Given the description of an element on the screen output the (x, y) to click on. 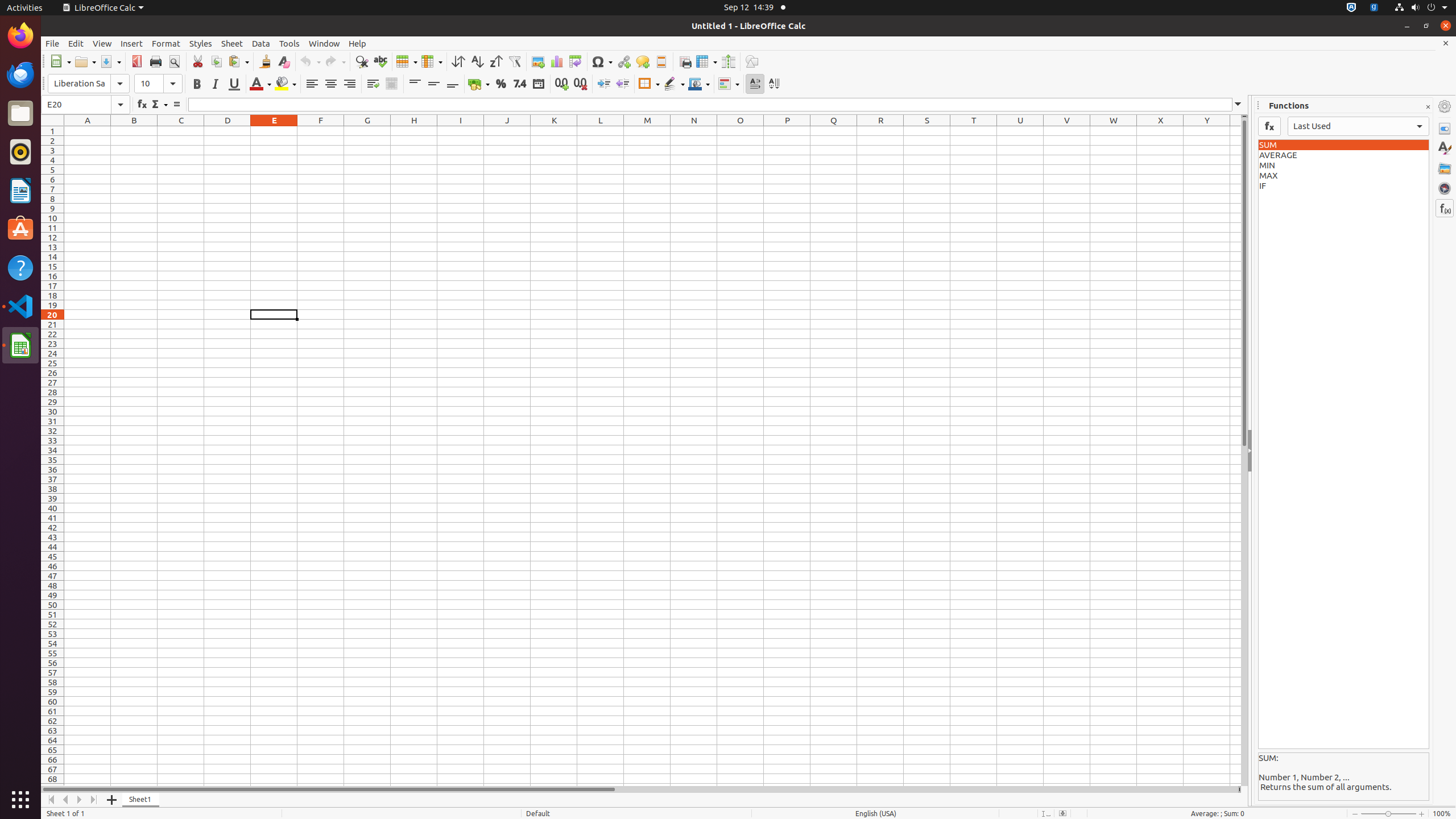
Text direction from top to bottom Element type: toggle-button (773, 83)
Border Style Element type: push-button (673, 83)
Edit Element type: menu (75, 43)
MAX Element type: list-item (1343, 175)
Y1 Element type: table-cell (1206, 130)
